Given the description of an element on the screen output the (x, y) to click on. 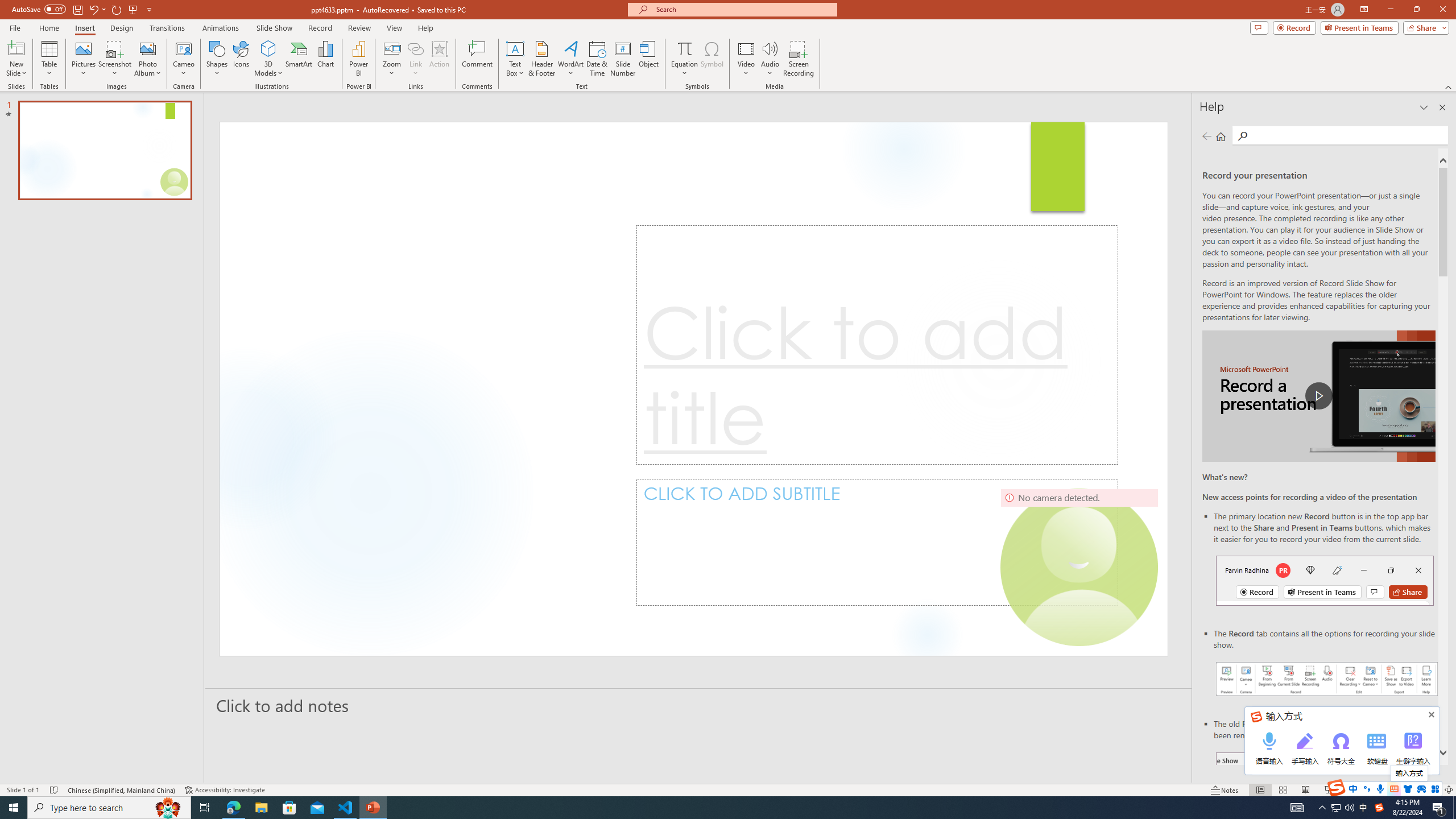
Header & Footer... (541, 58)
WordArt (570, 58)
Icons (240, 58)
Comment (476, 58)
